Given the description of an element on the screen output the (x, y) to click on. 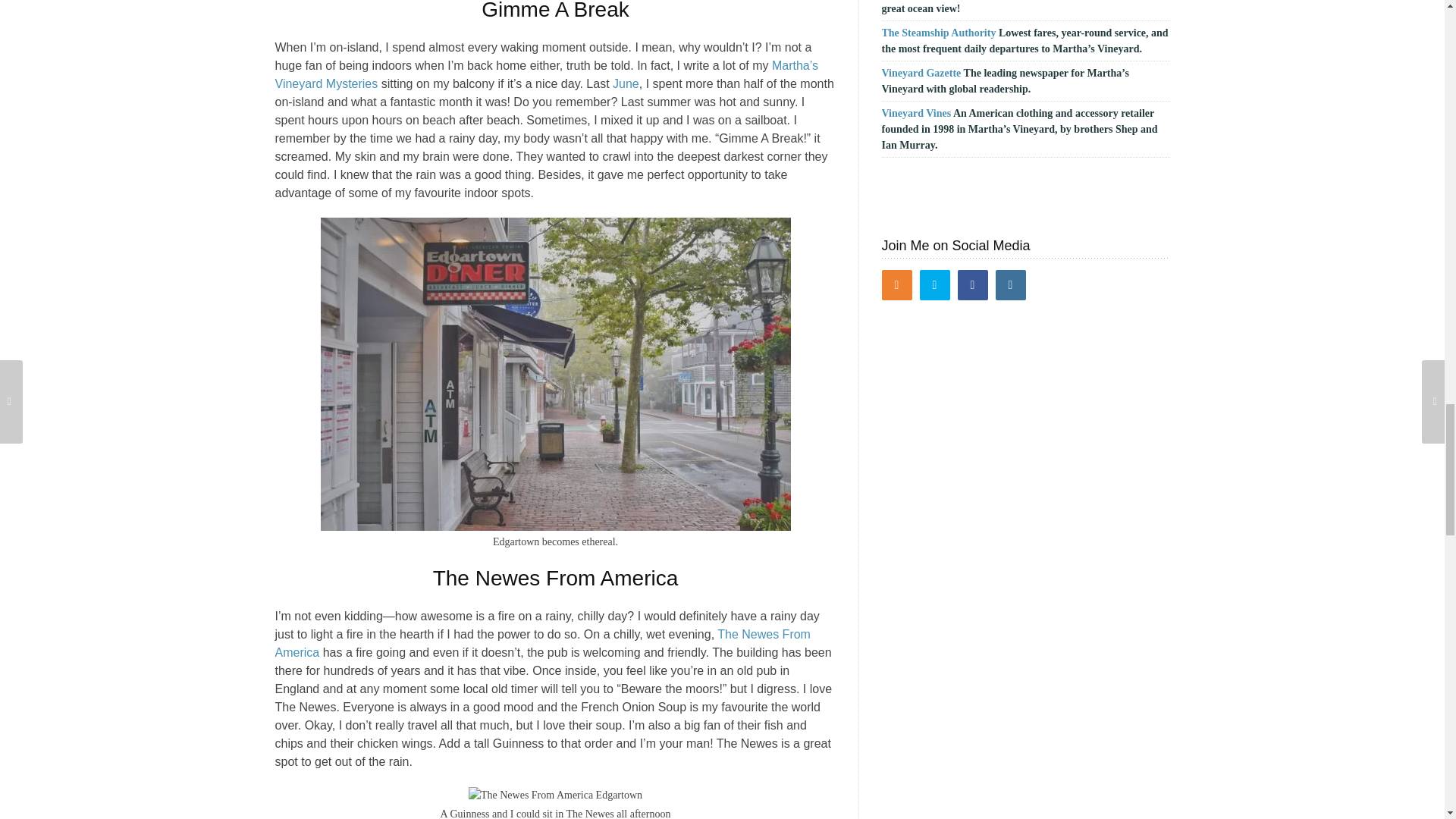
June (625, 83)
The Newes From America (542, 643)
